Given the description of an element on the screen output the (x, y) to click on. 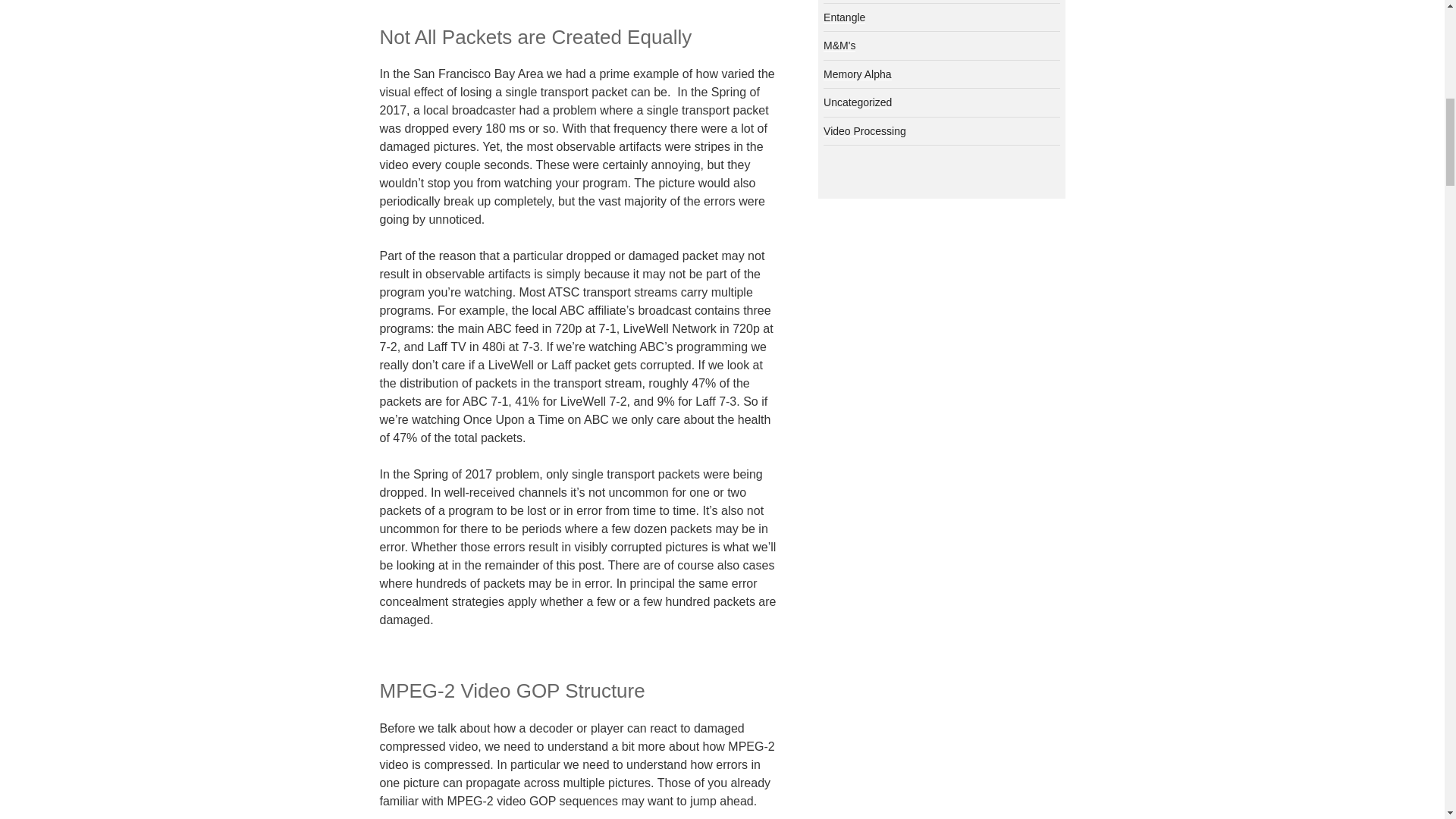
Video Processing (864, 131)
Uncategorized (857, 102)
Entangle (844, 17)
Memory Alpha (857, 73)
Project Entangle (844, 17)
